Given the description of an element on the screen output the (x, y) to click on. 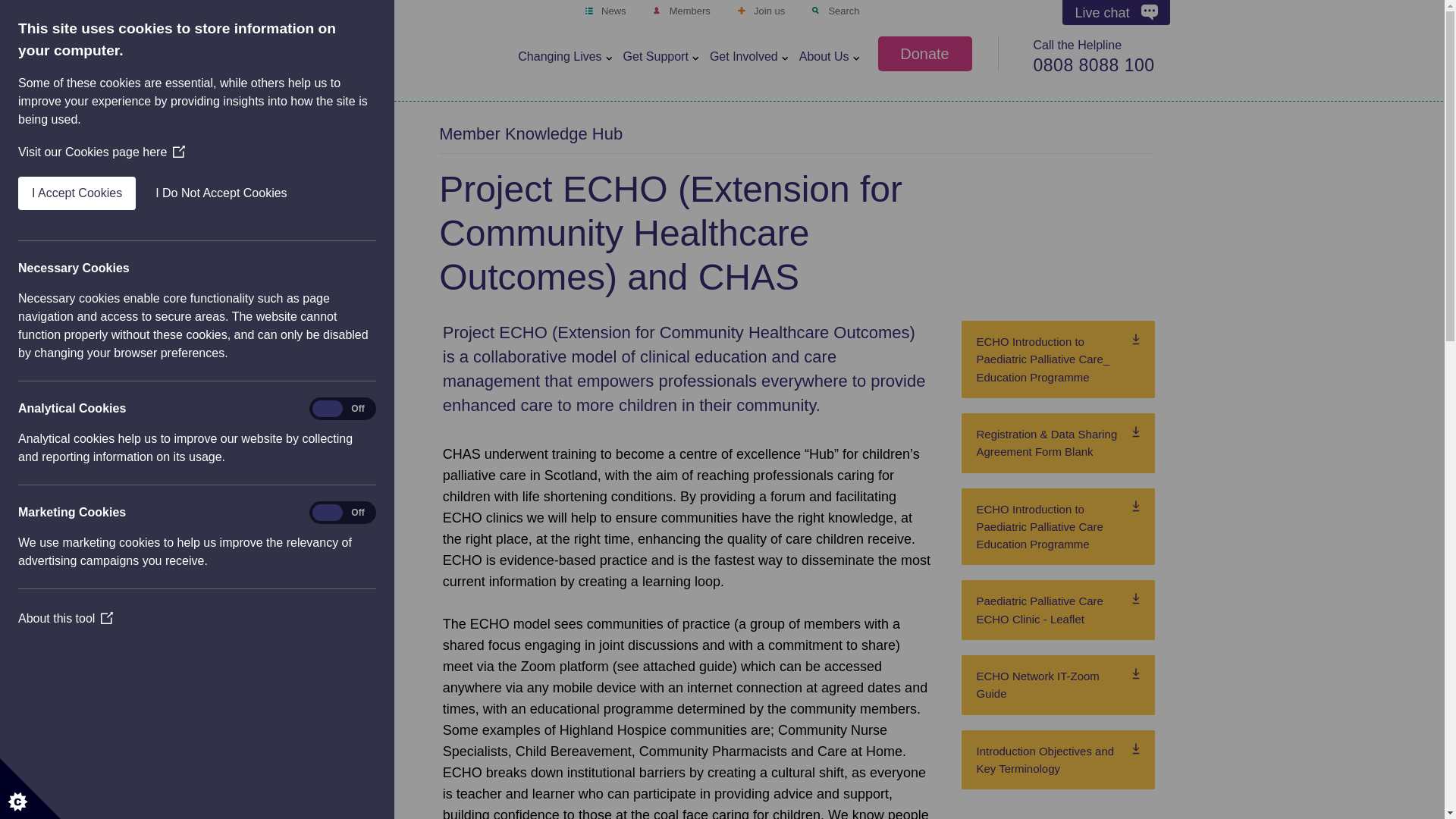
Get Support (655, 57)
Search (836, 10)
Changing Lives (559, 57)
Members (681, 10)
I Do Not Accept Cookies (105, 192)
News (605, 10)
Join us (760, 10)
